Given the description of an element on the screen output the (x, y) to click on. 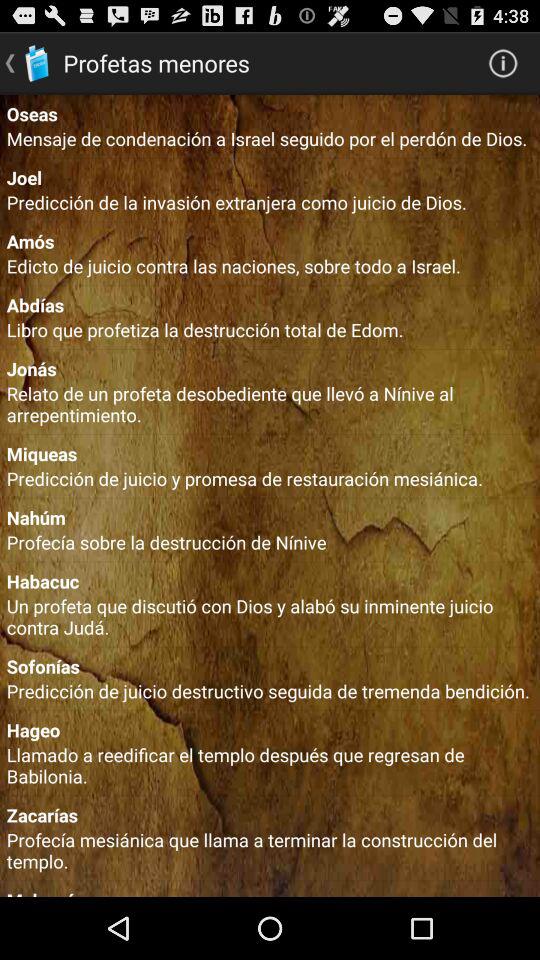
select the habacuc item (269, 580)
